Given the description of an element on the screen output the (x, y) to click on. 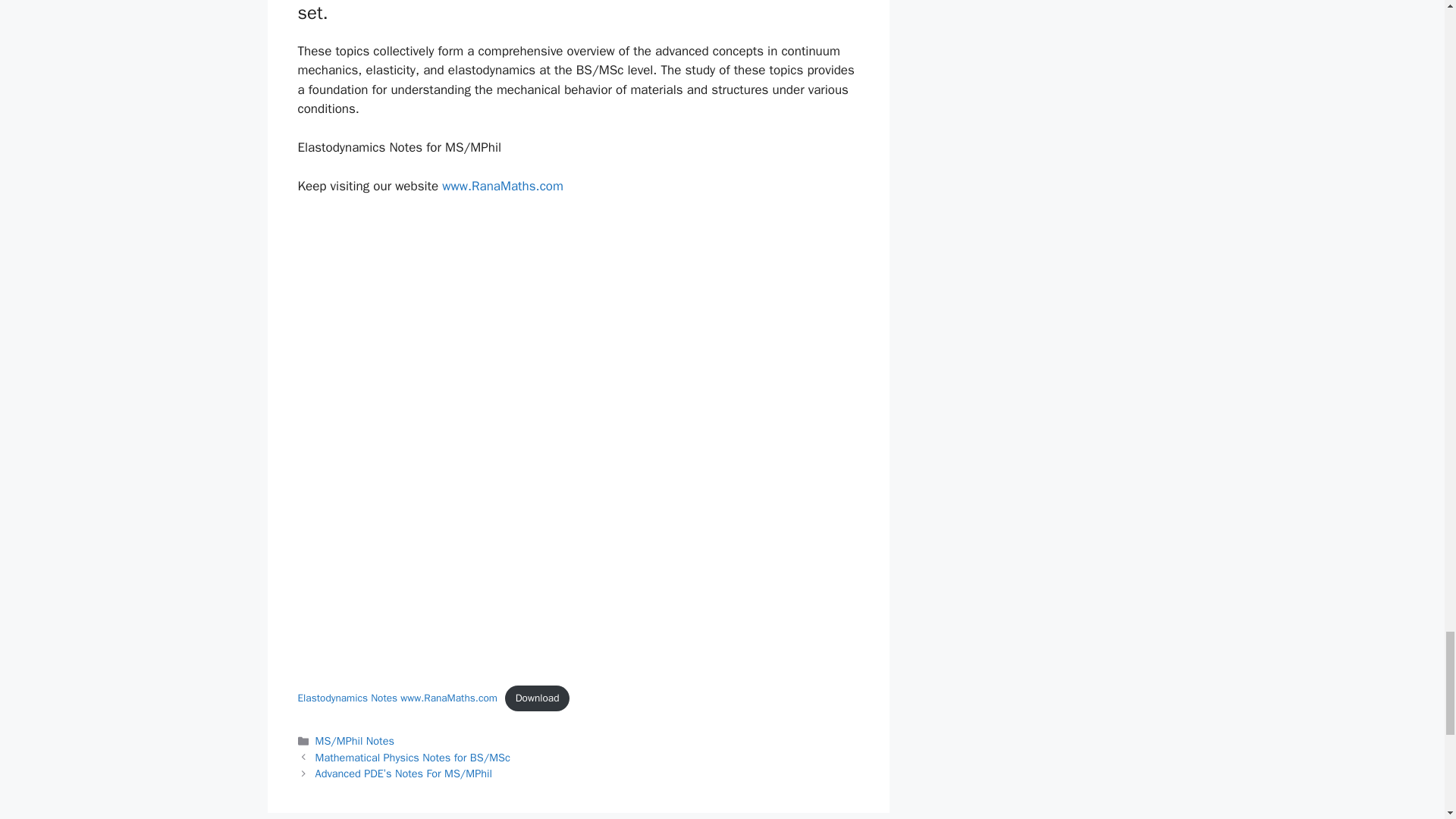
Elastodynamics Notes www.RanaMaths.com (396, 697)
Download (537, 698)
www.RanaMaths.com (502, 186)
